Given the description of an element on the screen output the (x, y) to click on. 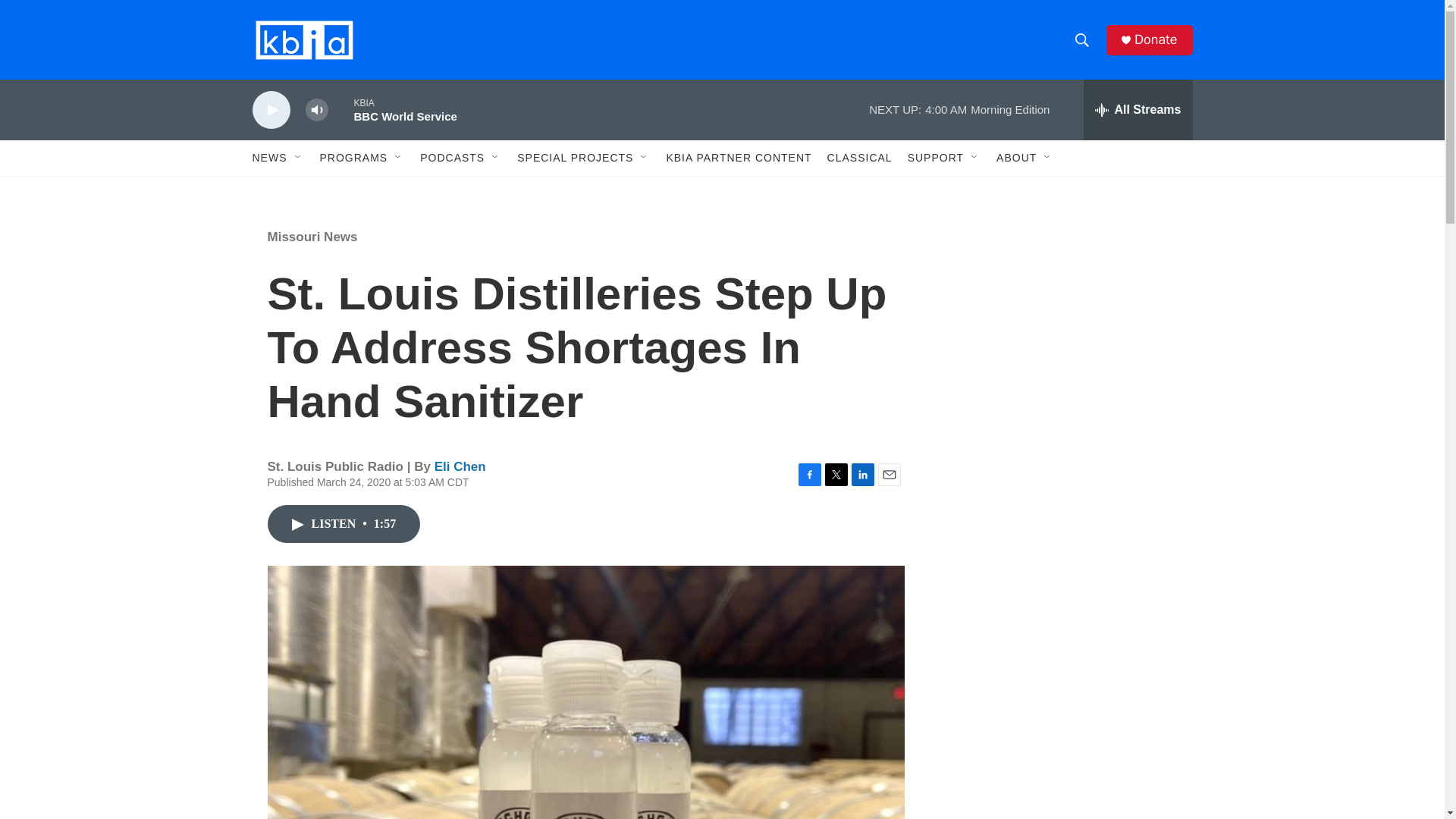
3rd party ad content (1062, 316)
3rd party ad content (1062, 536)
3rd party ad content (1062, 740)
